Given the description of an element on the screen output the (x, y) to click on. 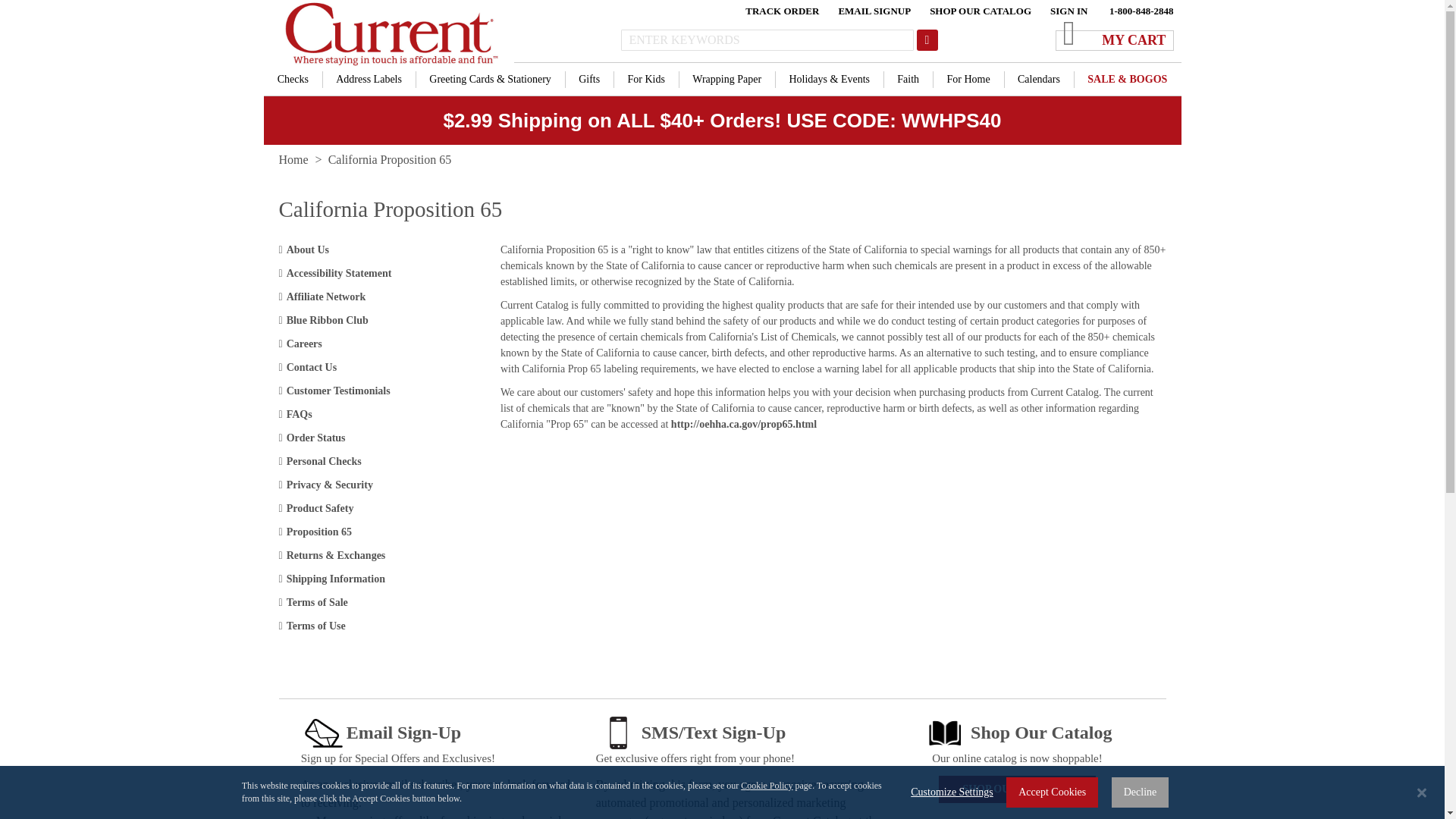
MY CART (1114, 33)
My Cart (1065, 24)
Current Catalog (388, 33)
Checks (293, 79)
Go to Home Page (293, 159)
EMAIL SIGNUP (874, 12)
SIGN IN (1068, 12)
TRACK ORDER (781, 12)
Current Catalog (388, 33)
SEARCH (927, 39)
1-800-848-2848 (1141, 12)
Search (927, 39)
SHOP OUR CATALOG (980, 12)
